Given the description of an element on the screen output the (x, y) to click on. 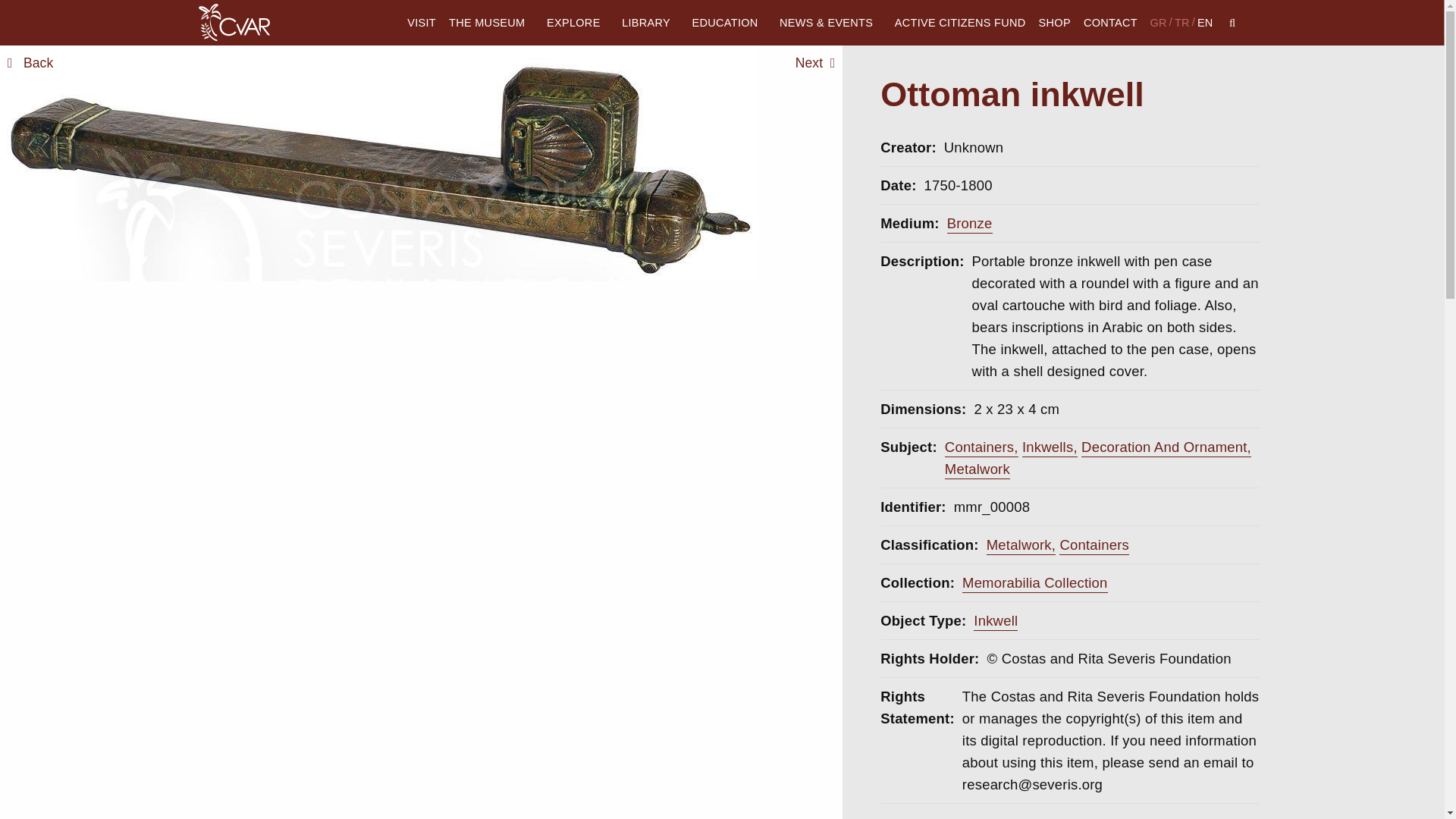
THE MUSEUM (490, 22)
VISIT (421, 22)
EDUCATION (729, 22)
EXPLORE (577, 22)
LIBRARY (650, 22)
